Given the description of an element on the screen output the (x, y) to click on. 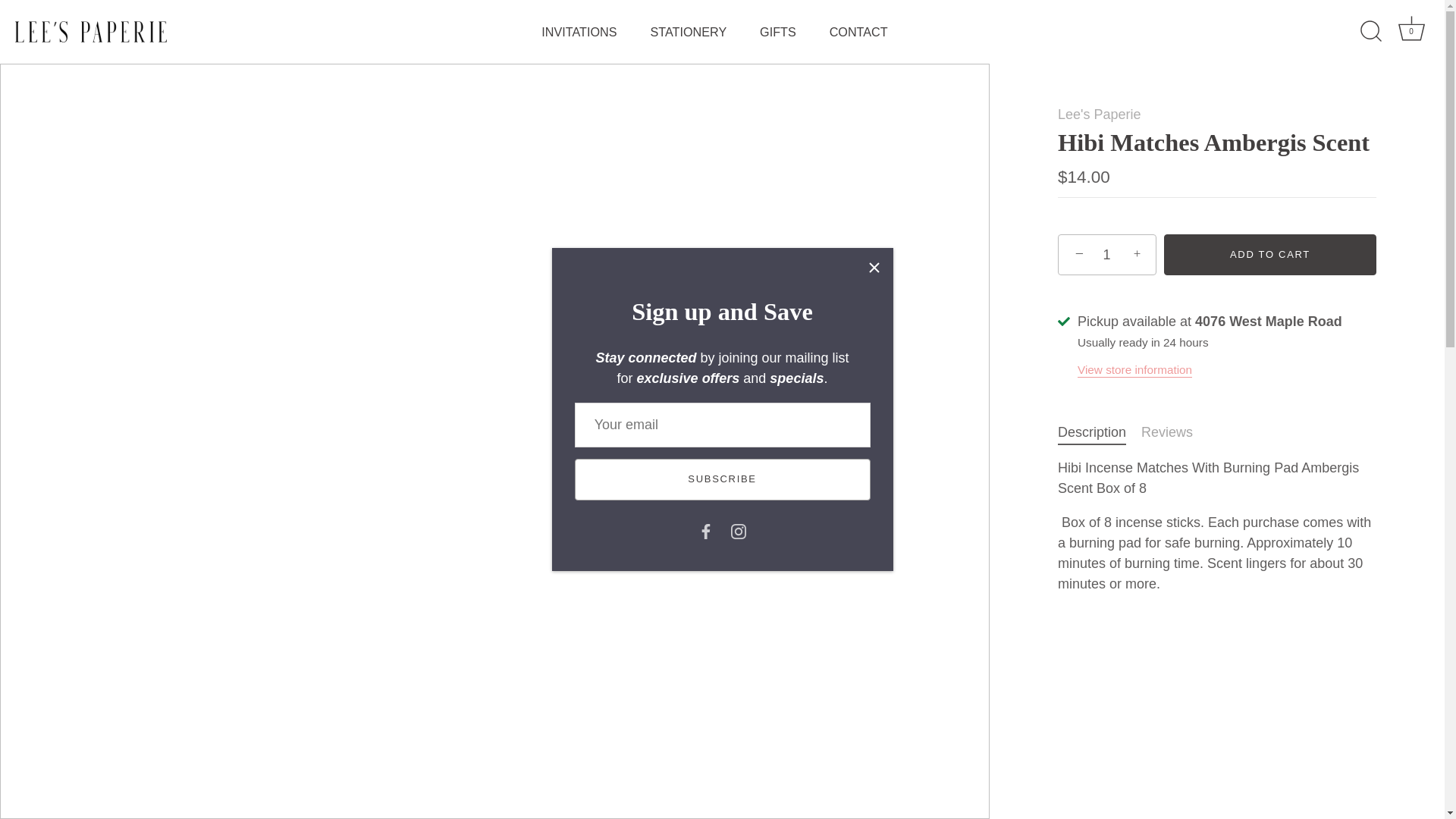
STATIONERY (687, 31)
INVITATIONS (1411, 31)
Instagram (579, 31)
GIFTS (737, 531)
CONTACT (777, 31)
Cart (857, 31)
Lee's Paperie (1411, 28)
ADD TO CART (1099, 114)
